Given the description of an element on the screen output the (x, y) to click on. 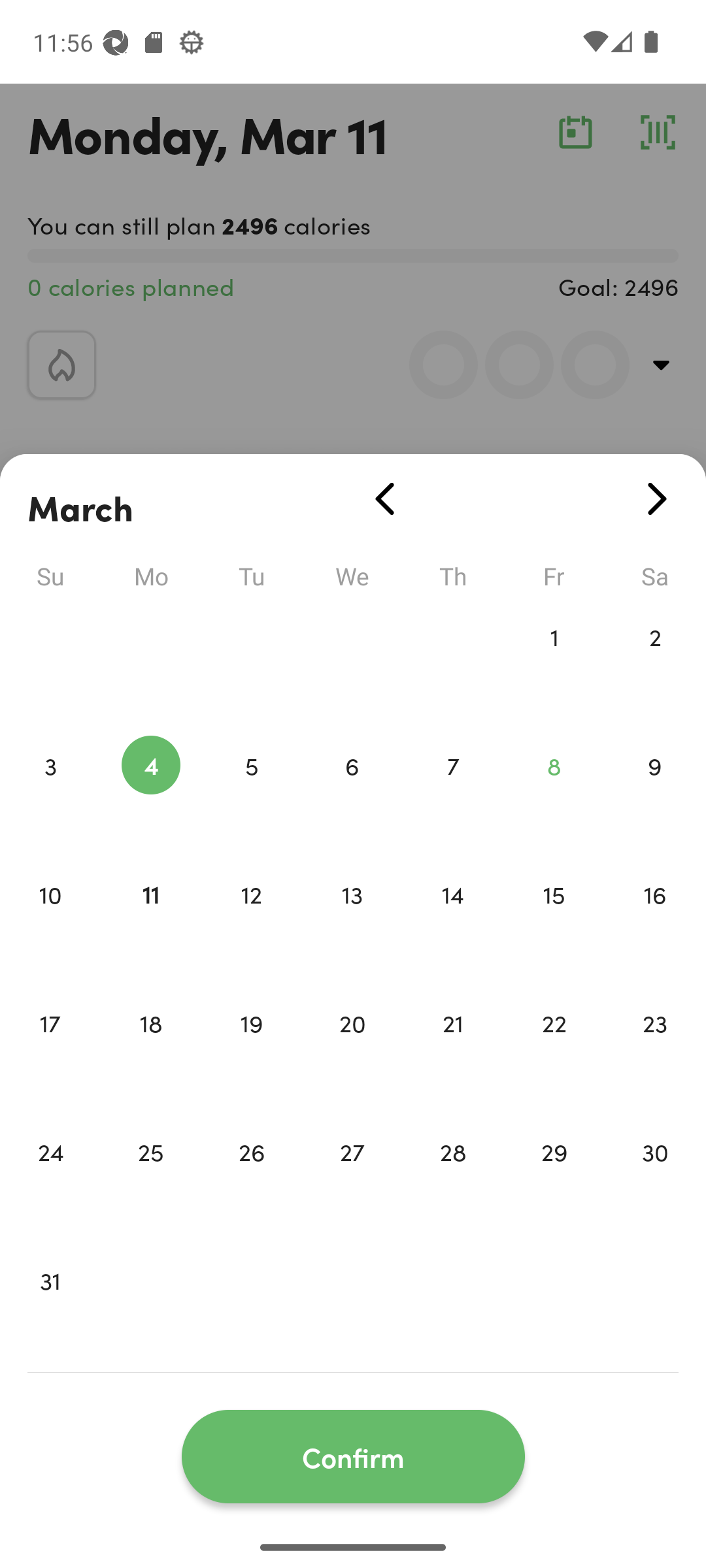
1 (554, 663)
2 (655, 663)
3 (50, 793)
4 (150, 793)
5 (251, 793)
6 (352, 793)
7 (453, 793)
8 (554, 793)
9 (655, 793)
10 (50, 921)
11 (150, 921)
12 (251, 921)
13 (352, 921)
14 (453, 921)
15 (554, 921)
16 (655, 921)
17 (50, 1050)
18 (150, 1050)
19 (251, 1050)
20 (352, 1050)
21 (453, 1050)
22 (554, 1050)
23 (655, 1050)
24 (50, 1178)
25 (150, 1178)
26 (251, 1178)
27 (352, 1178)
28 (453, 1178)
29 (554, 1178)
30 (655, 1178)
31 (50, 1307)
Confirm (353, 1456)
